Given the description of an element on the screen output the (x, y) to click on. 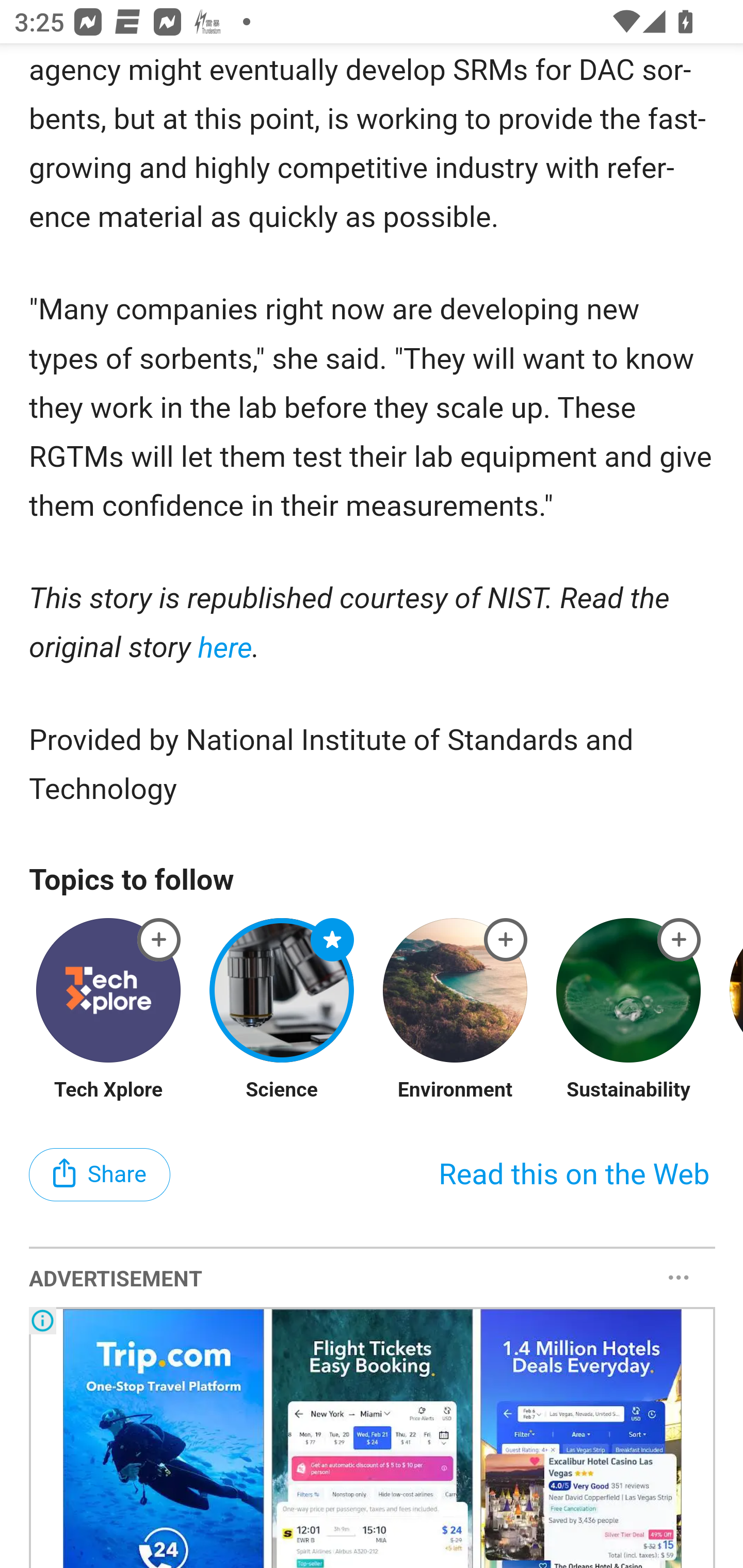
here (224, 647)
2024-04-team-carbon-capture-global (159, 939)
2024-04-team-carbon-capture-global (332, 939)
2024-04-team-carbon-capture-global (505, 939)
2024-04-team-carbon-capture-global (679, 939)
Tech Xplore (108, 1090)
Science (282, 1090)
Environment (454, 1090)
Sustainability (627, 1090)
Read this on the Web (573, 1175)
Share (99, 1175)
